Given the description of an element on the screen output the (x, y) to click on. 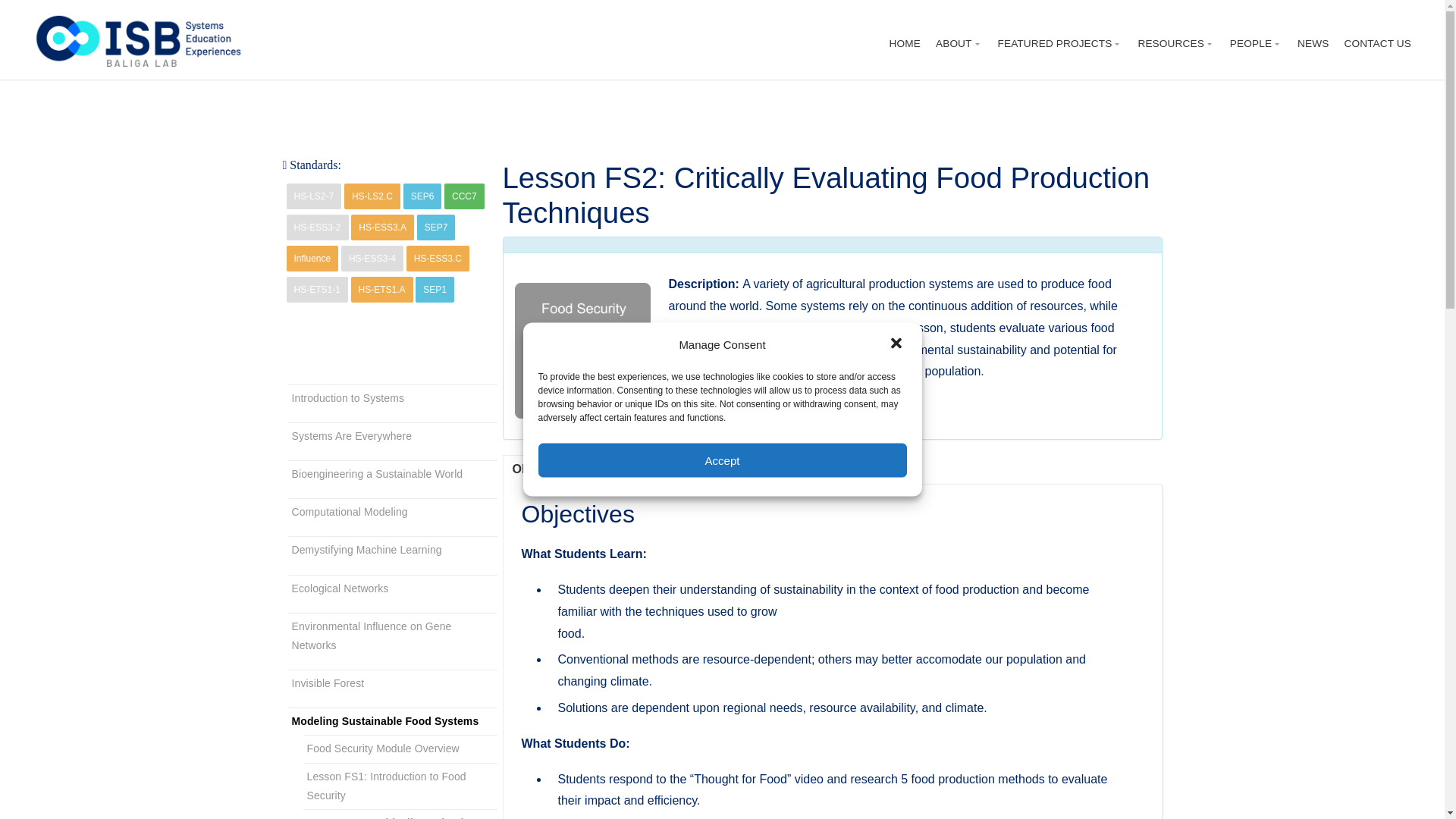
HS-ETS1-1 Evidence Statement (316, 289)
FEATURED PROJECTS (1059, 43)
HS-ESS3.A Natural Resources (381, 227)
ABOUT (959, 43)
HS-ESS3.C Human Impacts on Earth Systems (437, 258)
RESOURCES (1175, 43)
CCC7 Crosscutting Concept 7 - Stability and Change (464, 196)
HS-LS2-7 Evidence Statement (314, 196)
PEOPLE (1256, 43)
Accept (722, 459)
HS-ESS3-2 Evidence Statement (317, 227)
